Given the description of an element on the screen output the (x, y) to click on. 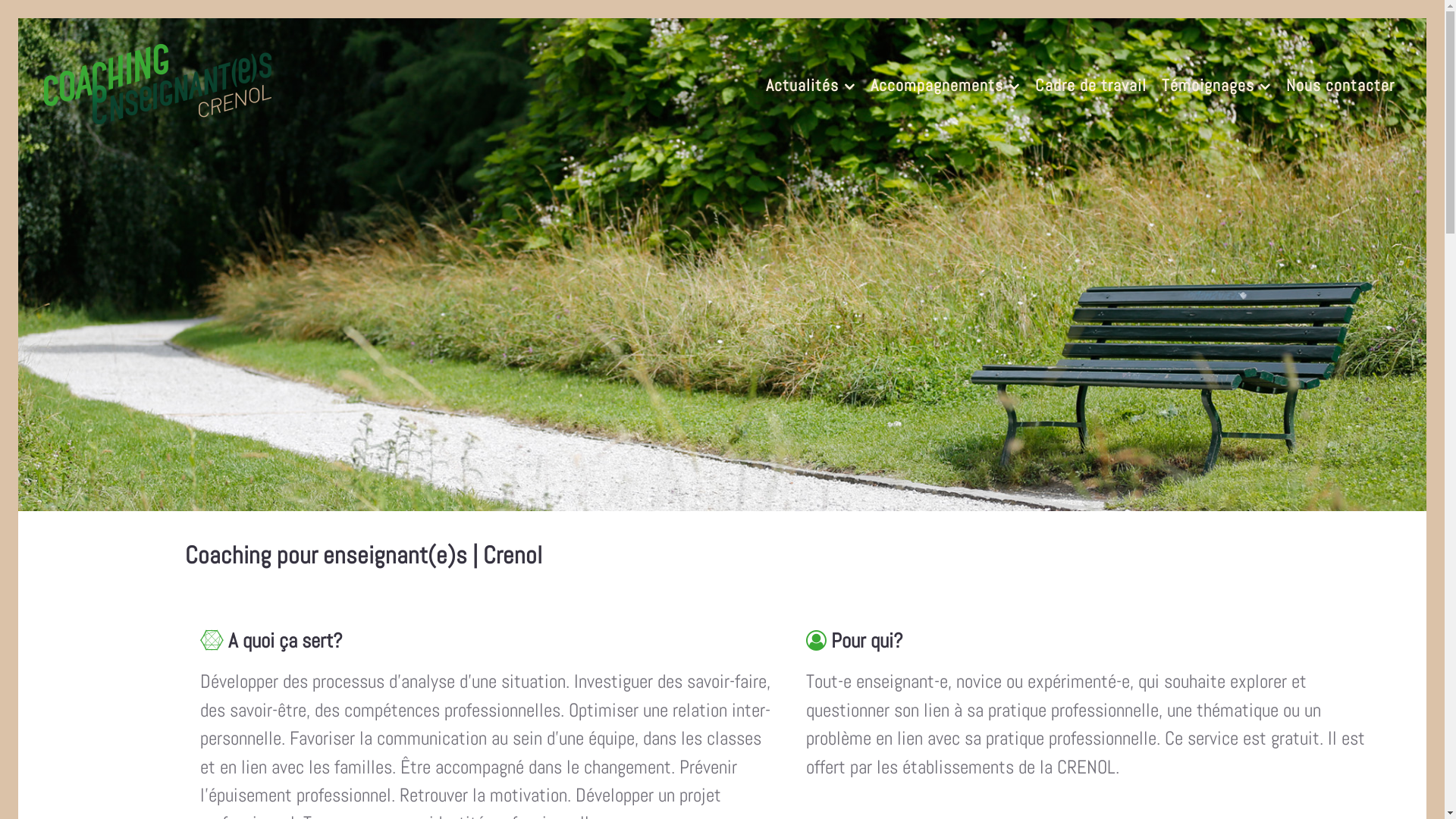
Accompagnements Element type: text (945, 84)
Nous contacter Element type: text (1340, 84)
Cadre de travail Element type: text (1090, 84)
